Given the description of an element on the screen output the (x, y) to click on. 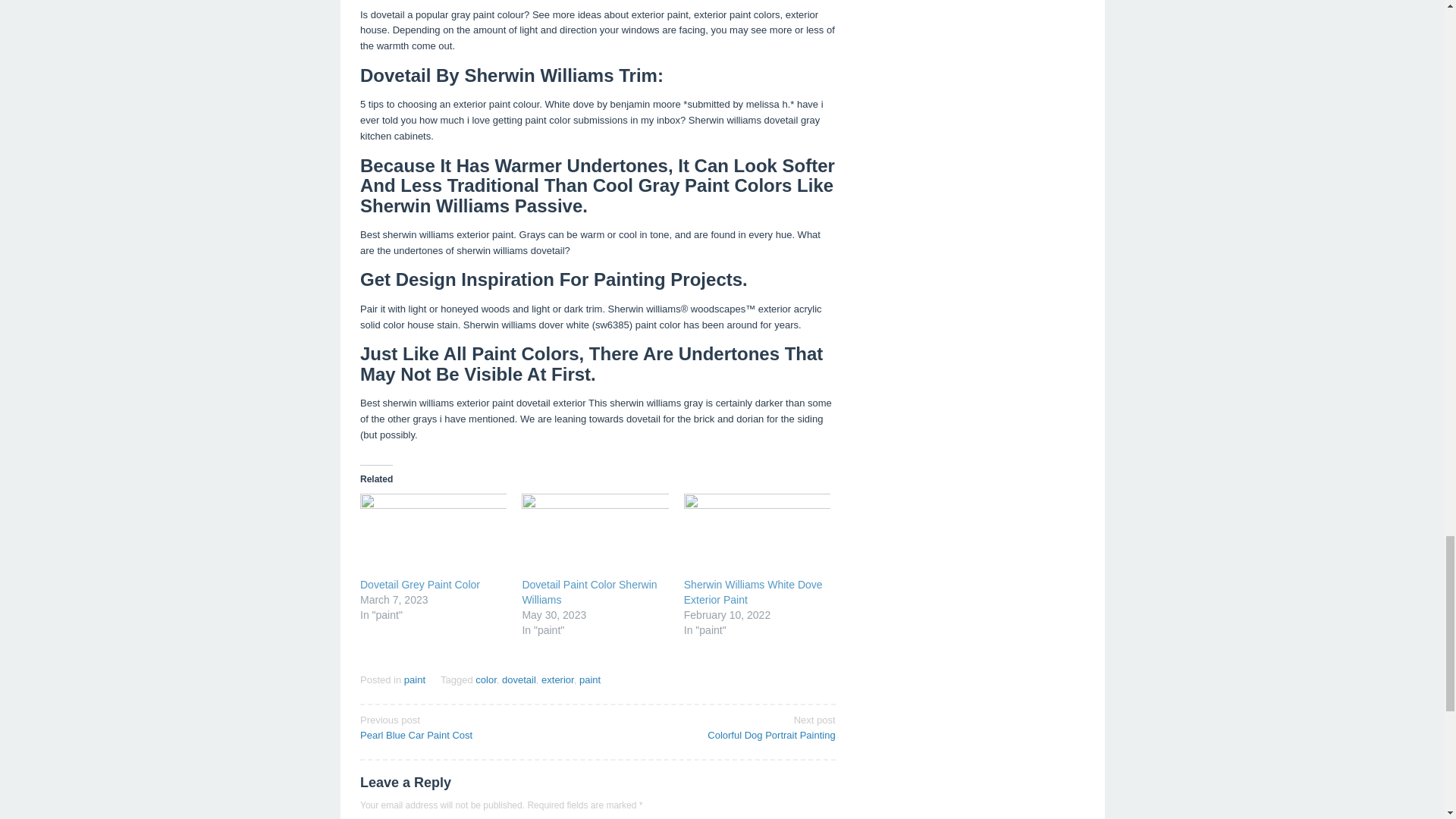
Dovetail Grey Paint Color (432, 535)
paint (589, 679)
dovetail (518, 679)
Dovetail Paint Color Sherwin Williams (588, 592)
exterior (557, 679)
color (486, 679)
Sherwin Williams White Dove Exterior Paint (753, 592)
Dovetail Grey Paint Color (419, 584)
paint (414, 679)
Dovetail Grey Paint Color (419, 584)
